Given the description of an element on the screen output the (x, y) to click on. 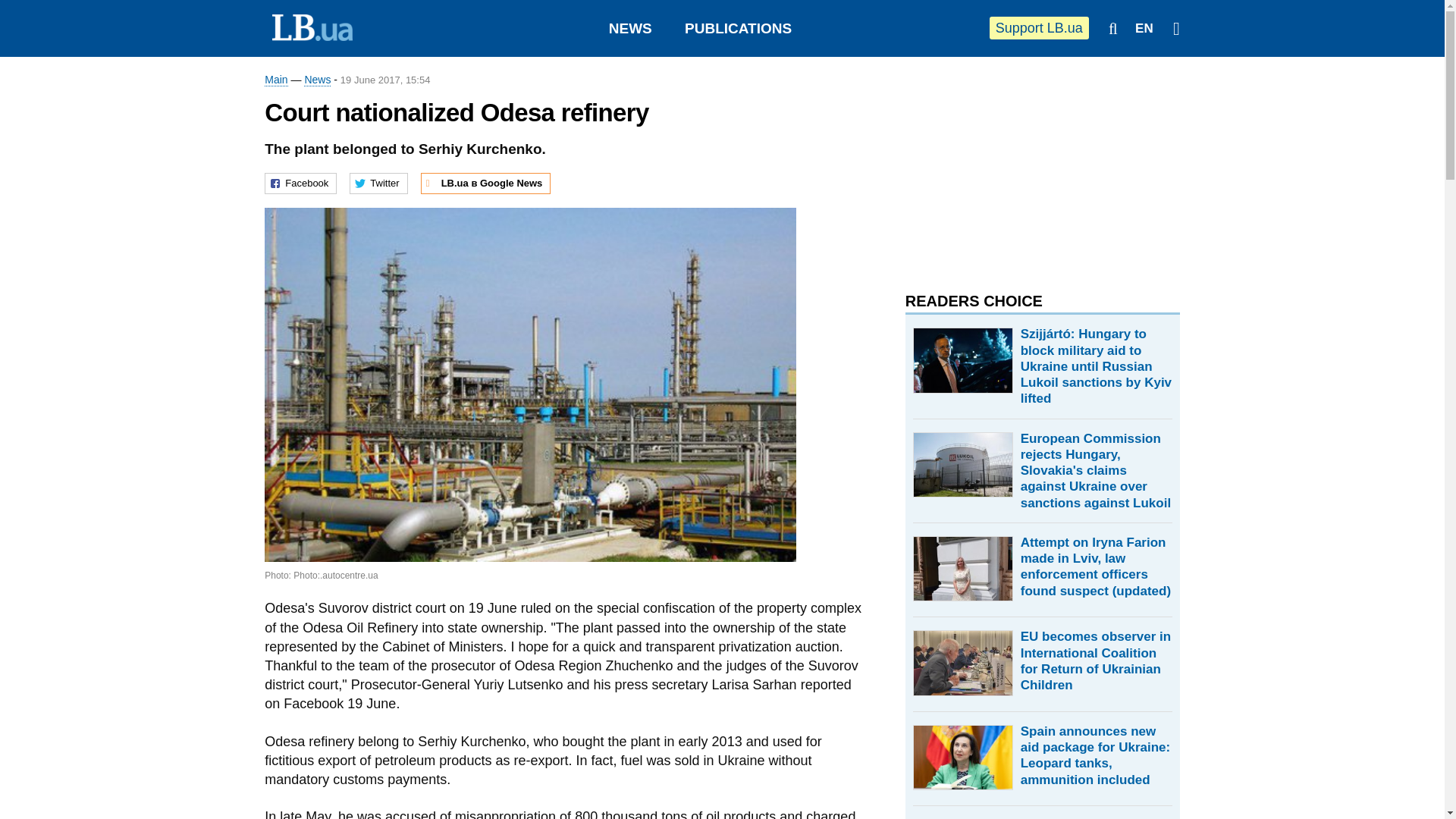
Advertisement (1018, 166)
EN (1144, 28)
Main (275, 79)
PUBLICATIONS (738, 28)
News (317, 79)
NEWS (630, 28)
Support LB.ua (1039, 27)
